Given the description of an element on the screen output the (x, y) to click on. 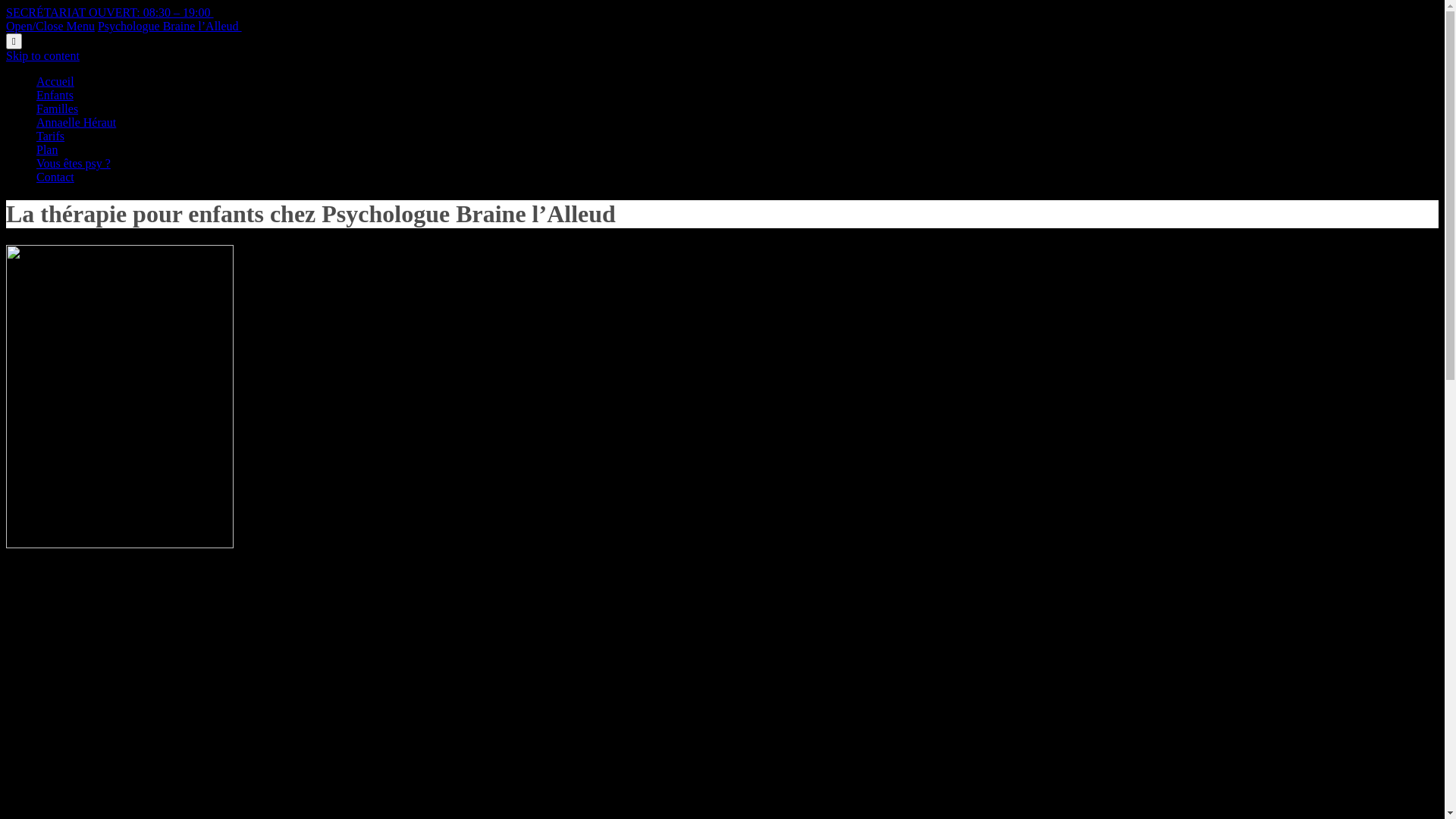
Enfants Element type: text (54, 94)
Familles Element type: text (57, 108)
Tarifs Element type: text (50, 135)
Skip to content Element type: text (42, 55)
Open/Close Menu Element type: text (50, 25)
Plan Element type: text (46, 149)
Accueil Element type: text (55, 81)
Contact Element type: text (55, 176)
